Given the description of an element on the screen output the (x, y) to click on. 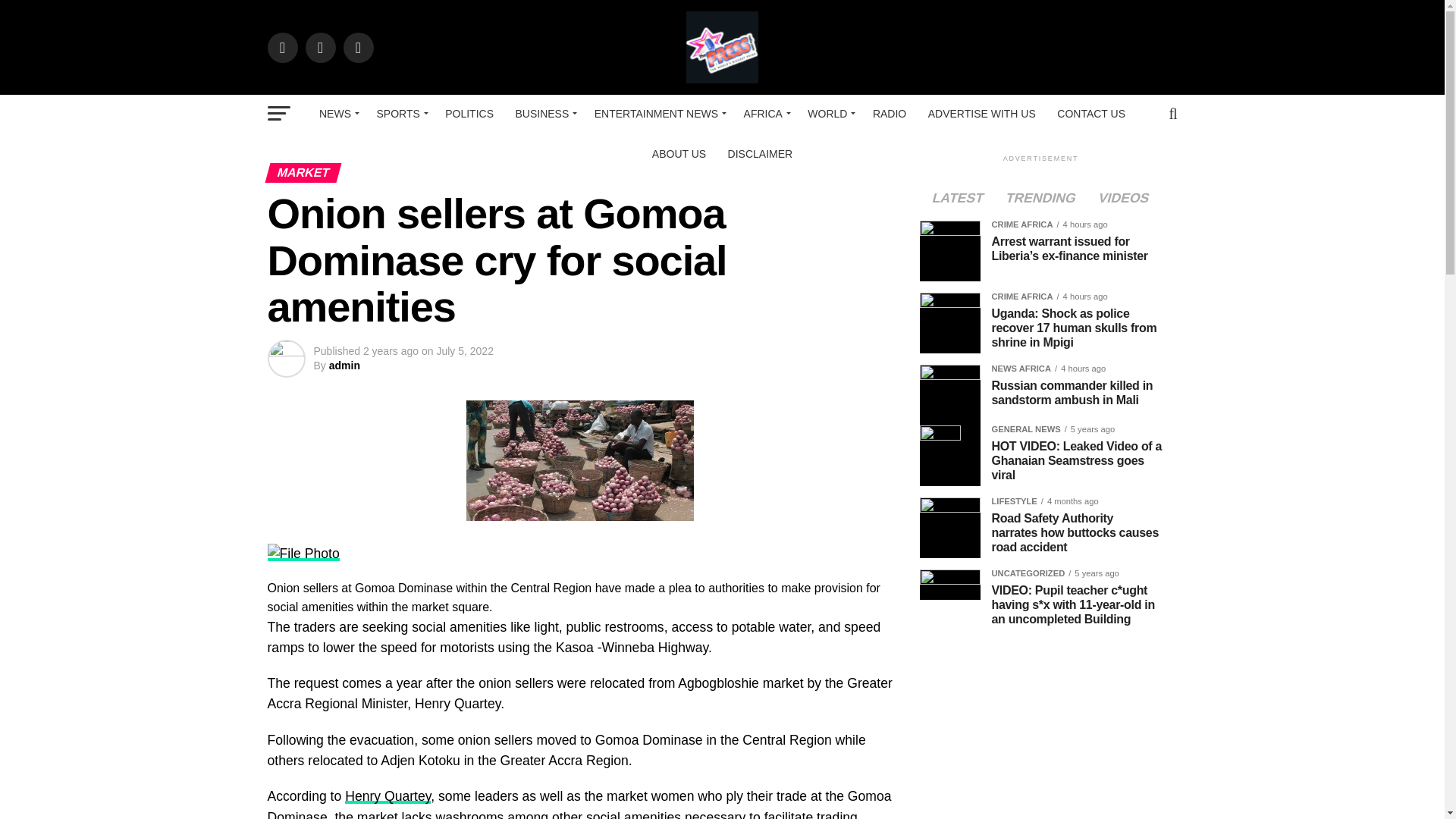
NEWS (337, 113)
